Given the description of an element on the screen output the (x, y) to click on. 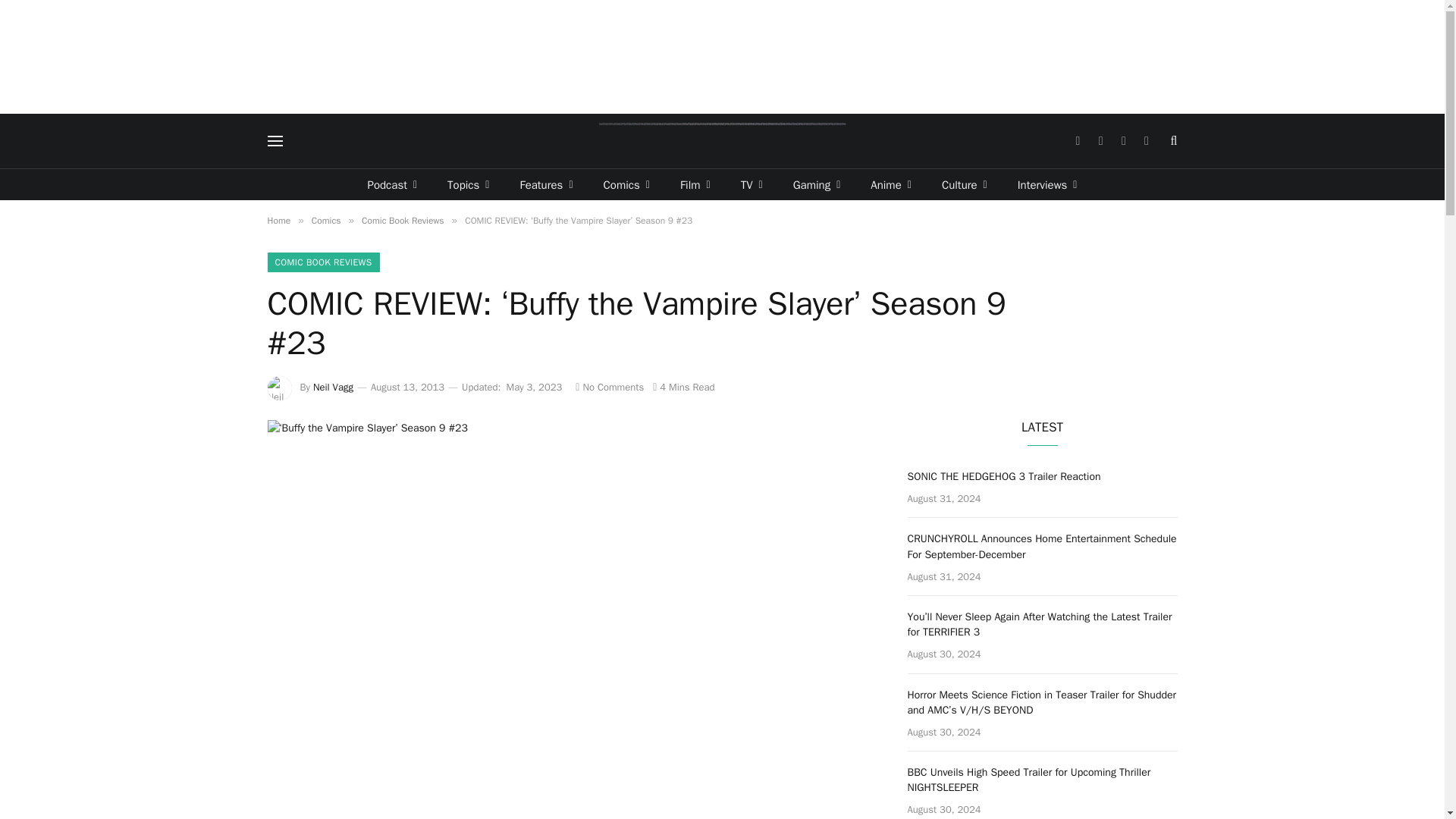
Get Your Comic On (721, 140)
Topics (467, 183)
Podcast (392, 183)
Features (545, 183)
